Given the description of an element on the screen output the (x, y) to click on. 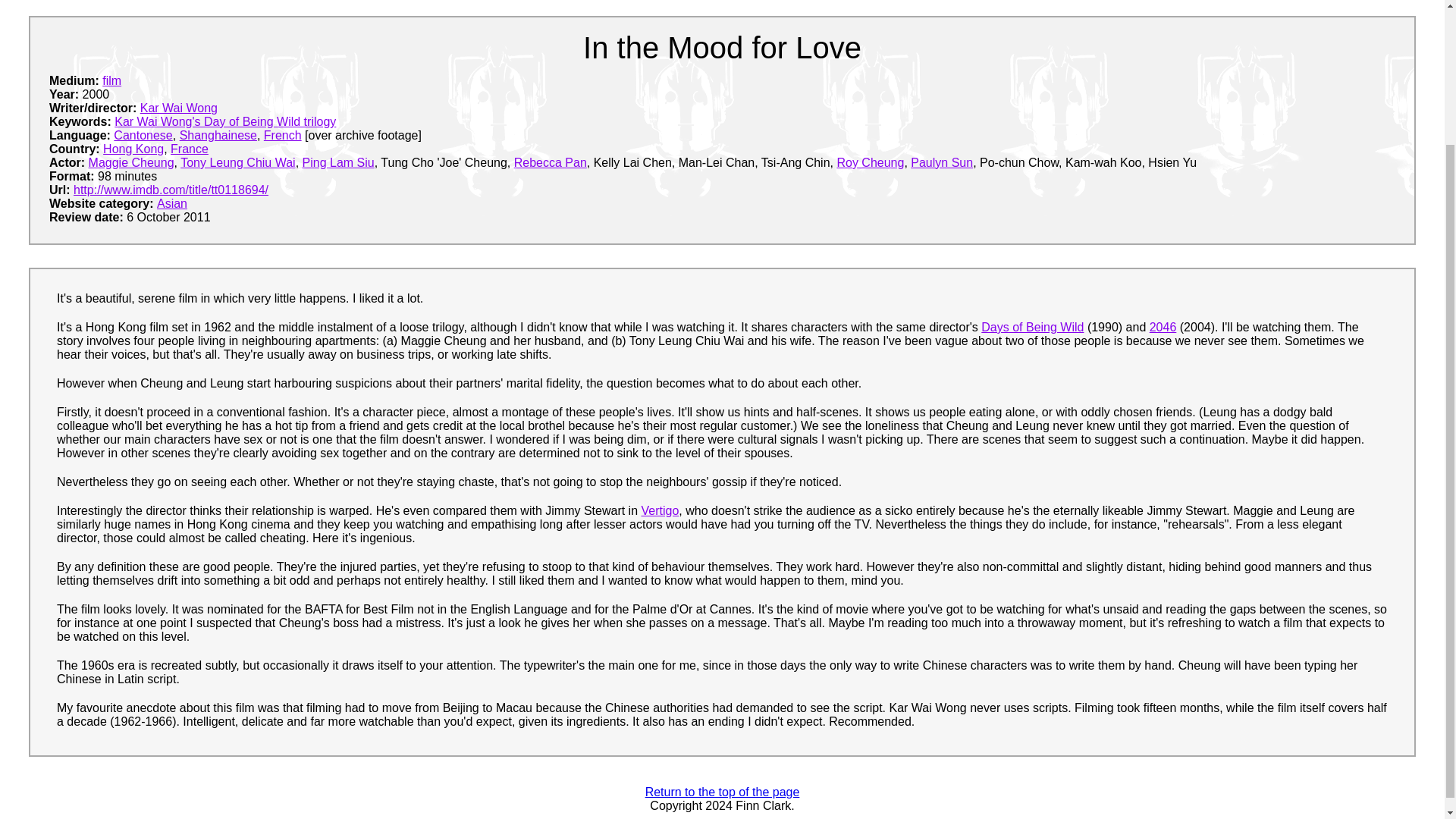
Asian (172, 203)
Tony Leung Chiu Wai (237, 162)
film (110, 80)
Roy Cheung (869, 162)
Hong Kong (133, 148)
Shanghainese (218, 134)
Vertigo (660, 510)
Kar Wai Wong (177, 107)
France (189, 148)
Maggie Cheung (131, 162)
Paulyn Sun (941, 162)
Ping Lam Siu (338, 162)
Days of Being Wild (1032, 327)
2046 (1163, 327)
Kar Wai Wong's Day of Being Wild trilogy (225, 121)
